Given the description of an element on the screen output the (x, y) to click on. 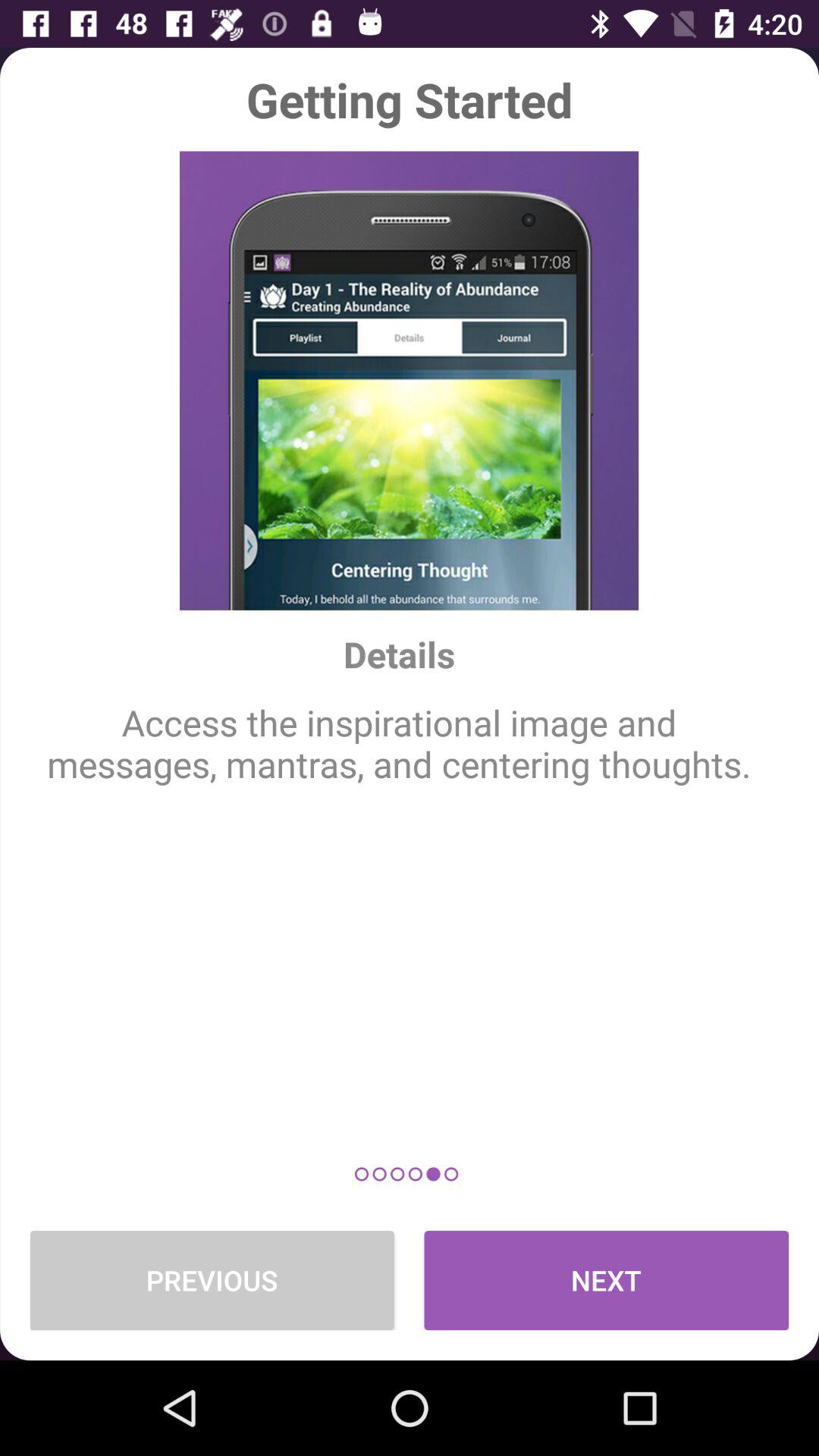
scroll to the next (606, 1280)
